Given the description of an element on the screen output the (x, y) to click on. 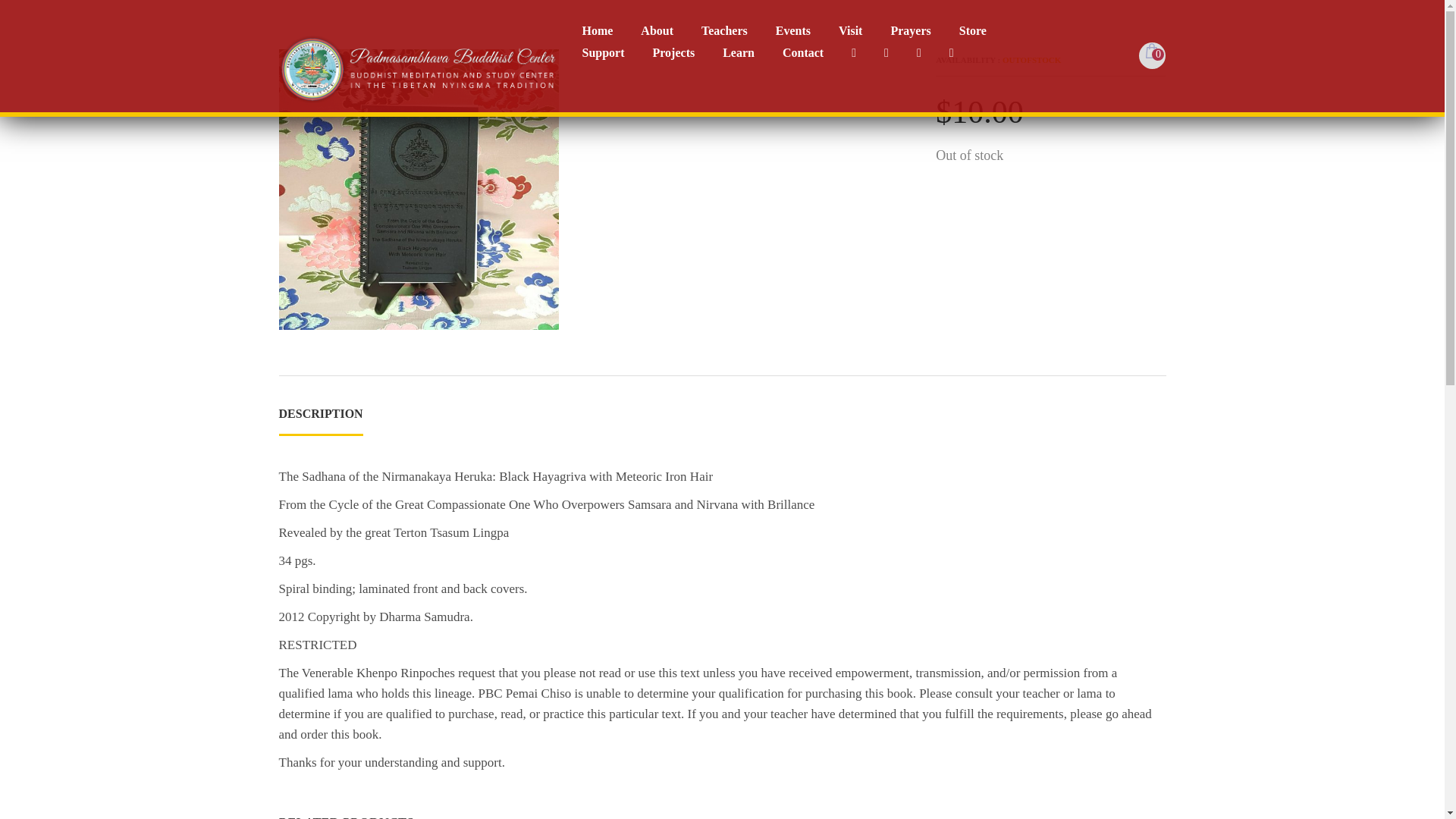
Black Hayagriva (419, 189)
Padmasambhava Buddhist Center (419, 66)
